Given the description of an element on the screen output the (x, y) to click on. 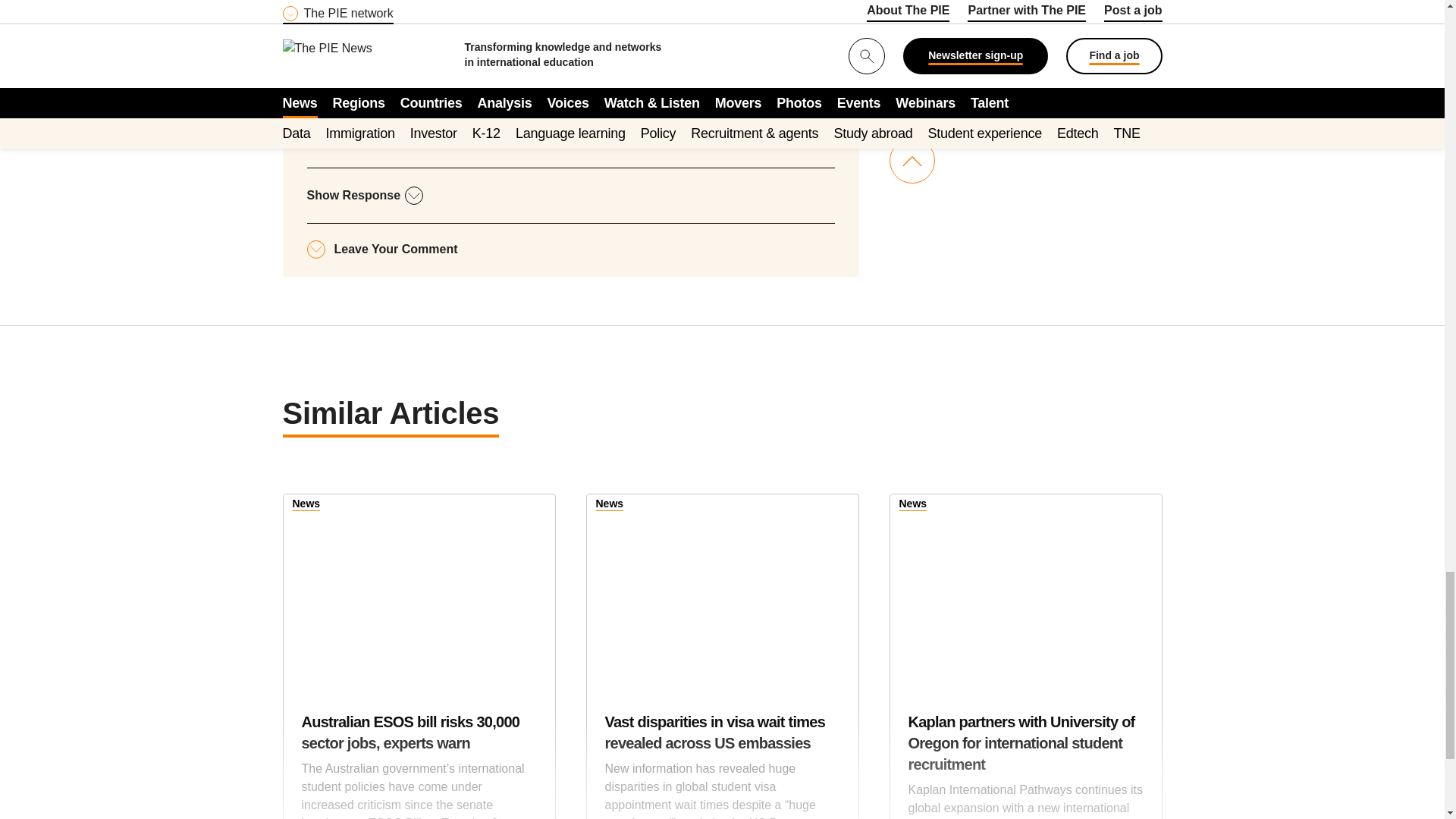
Australian ESOS bill risks 30,000 sector jobs, experts warn (419, 765)
Australian ESOS bill risks 30,000 sector jobs, experts warn (418, 588)
View all News articles (609, 505)
View all News articles (912, 505)
View all News articles (306, 505)
